Given the description of an element on the screen output the (x, y) to click on. 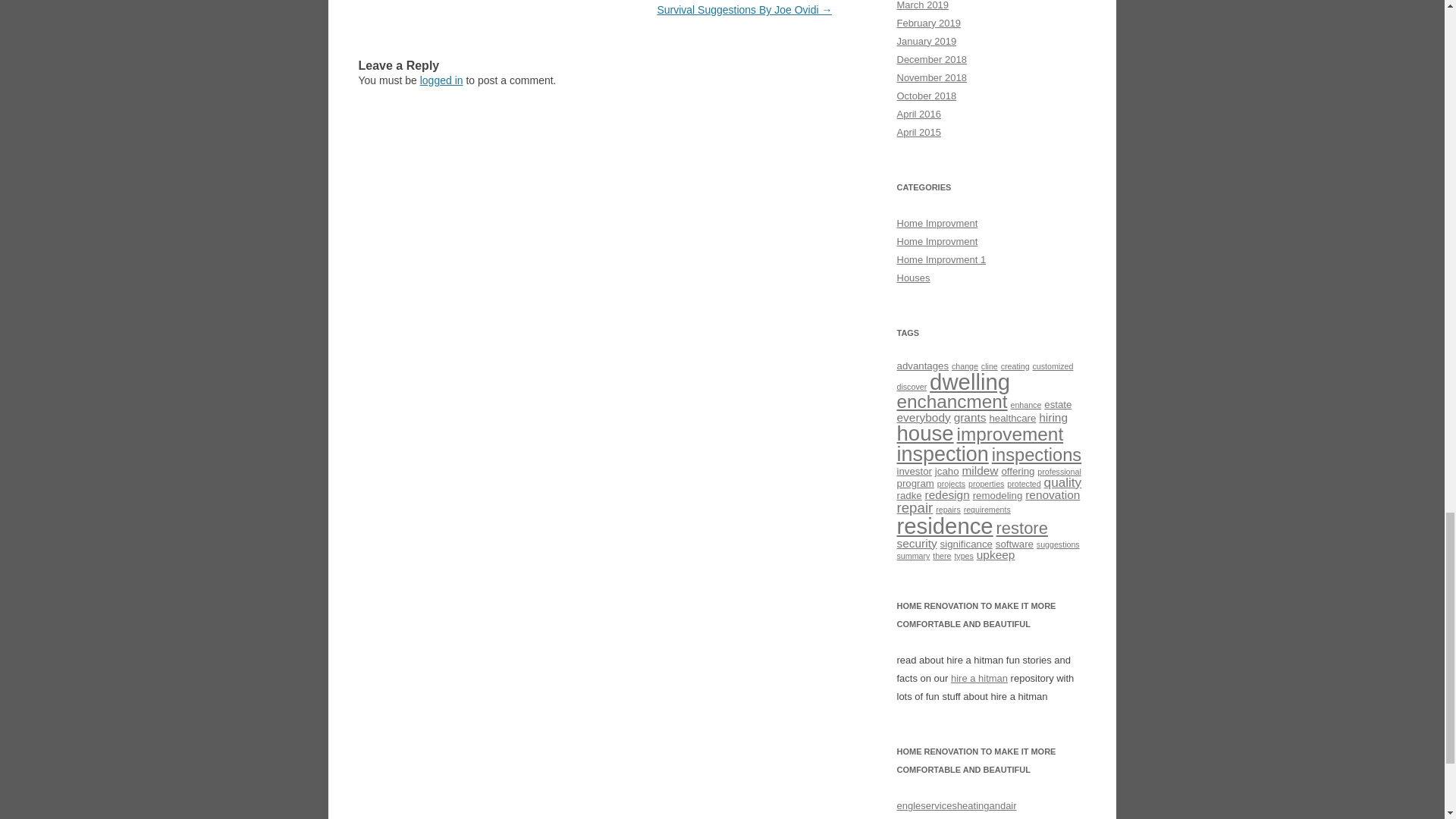
February 2019 (927, 22)
March 2019 (922, 5)
logged in (441, 80)
